Given the description of an element on the screen output the (x, y) to click on. 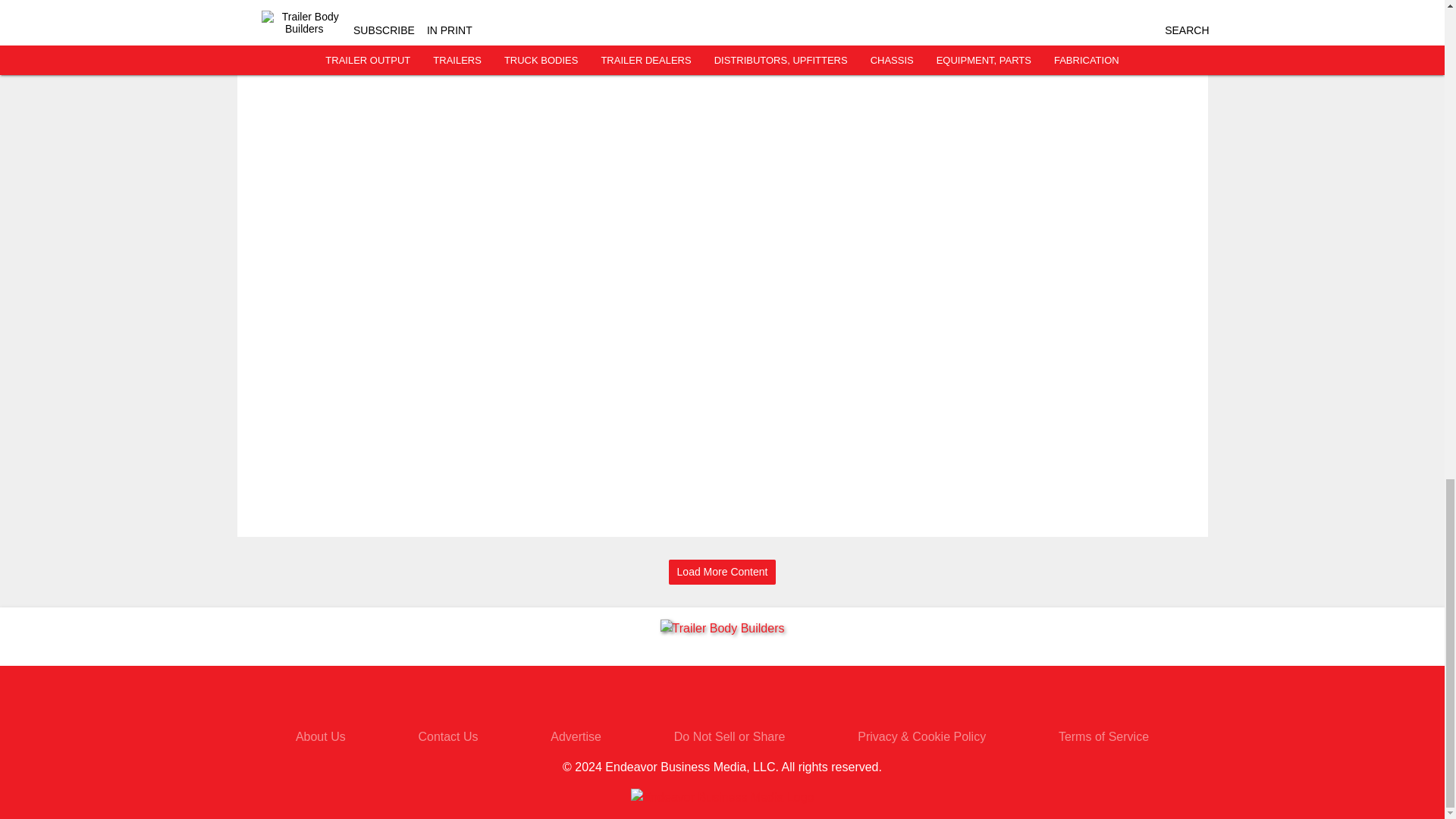
Image (307, 14)
Convention Calendar November 2014 (424, 6)
Archive (424, 45)
